Given the description of an element on the screen output the (x, y) to click on. 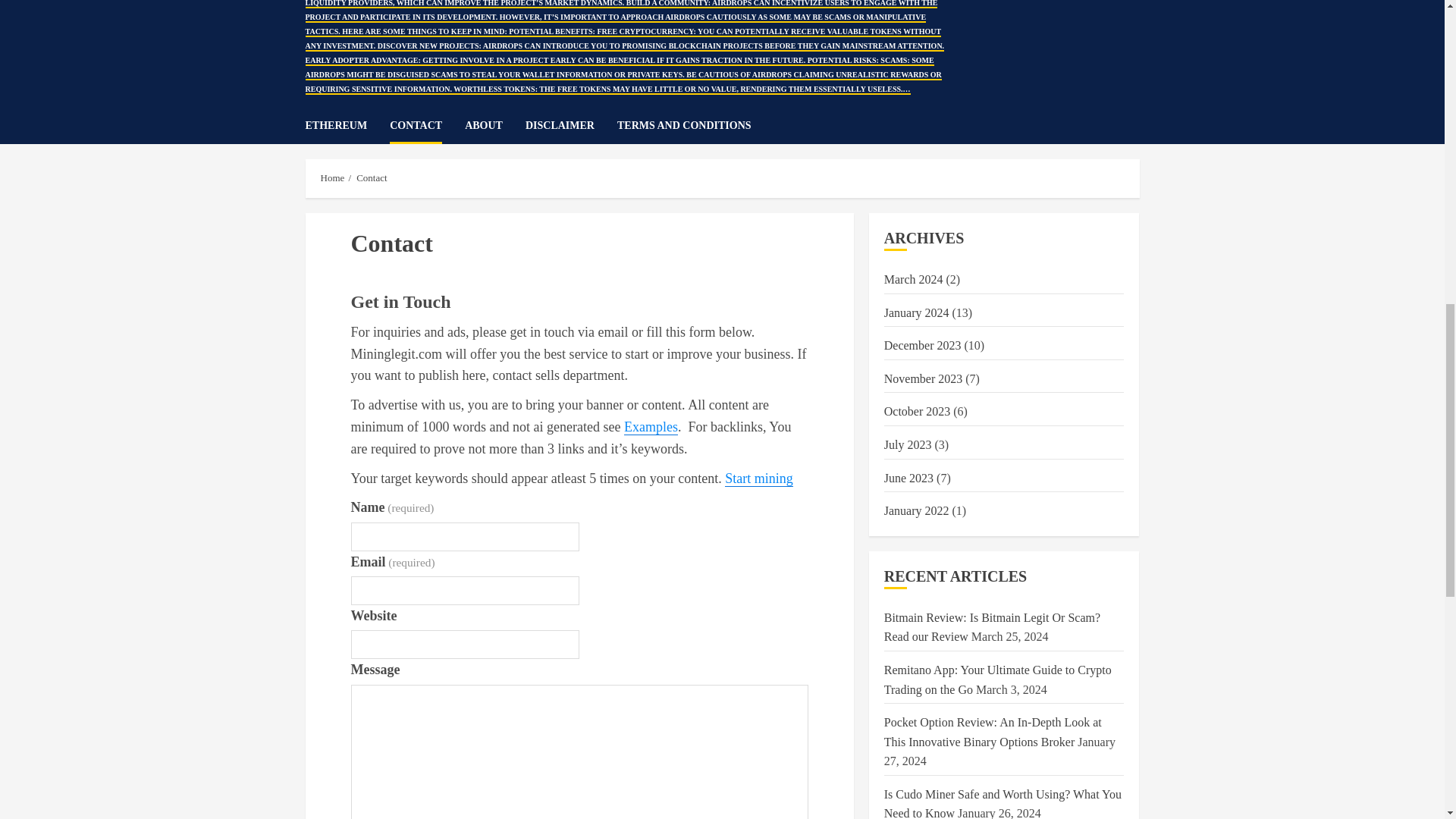
Start mining (759, 478)
July 2023 (907, 445)
Home (331, 177)
November 2023 (922, 378)
June 2023 (908, 478)
TERMS AND CONDITIONS (684, 125)
ETHEREUM (347, 125)
December 2023 (921, 345)
DISCLAIMER (571, 125)
January 2024 (916, 313)
October 2023 (916, 411)
CONTACT (427, 125)
March 2024 (913, 279)
Examples (651, 426)
ABOUT (494, 125)
